Given the description of an element on the screen output the (x, y) to click on. 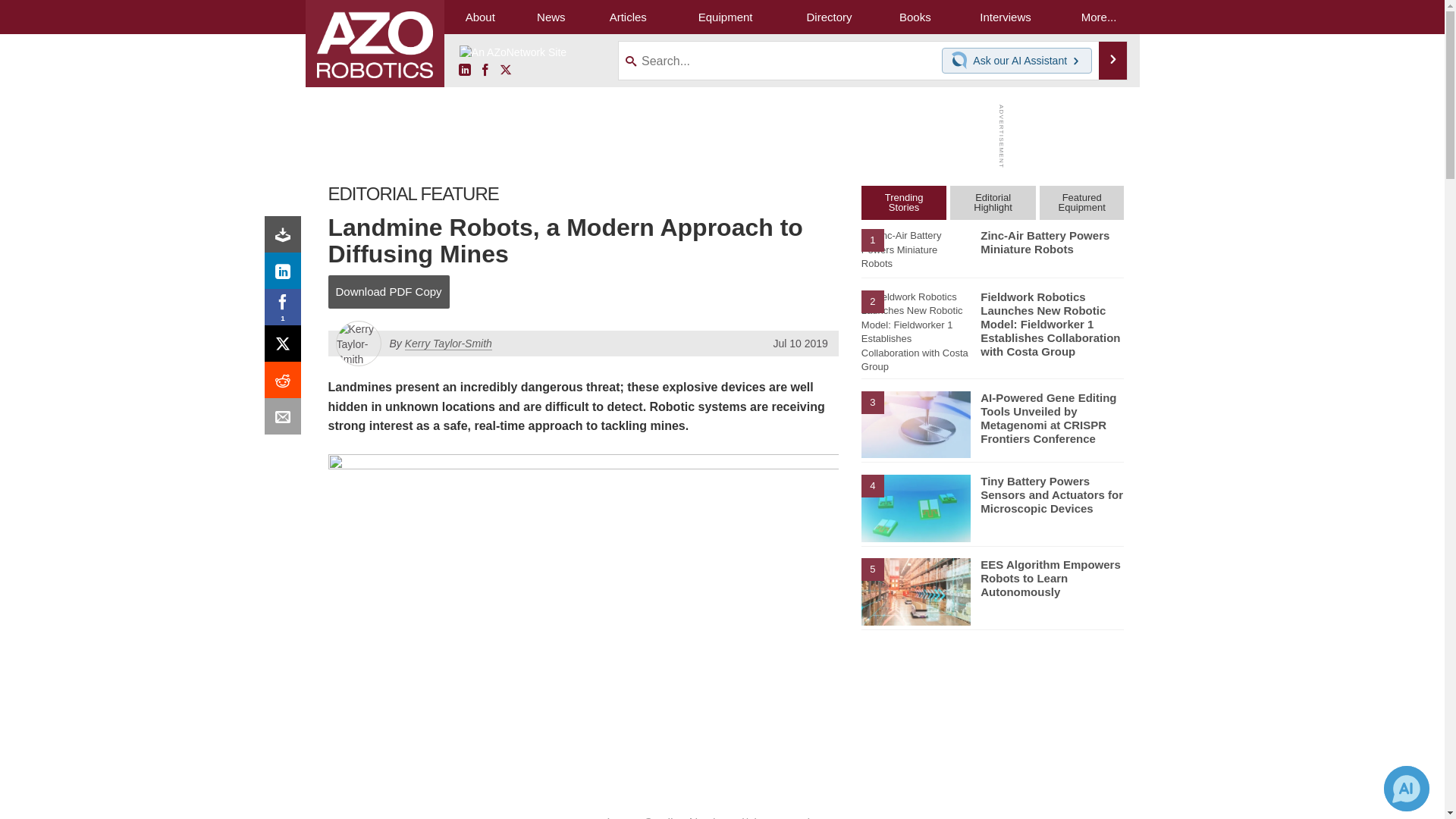
Chat with our AI Assistant (962, 60)
Chat with our AI Assistant Ask our AI Assistant (1017, 60)
More... (1099, 17)
About (480, 17)
1 (285, 311)
Facebook (485, 70)
Interviews (1005, 17)
LinkedIn (464, 70)
Email (285, 420)
